Given the description of an element on the screen output the (x, y) to click on. 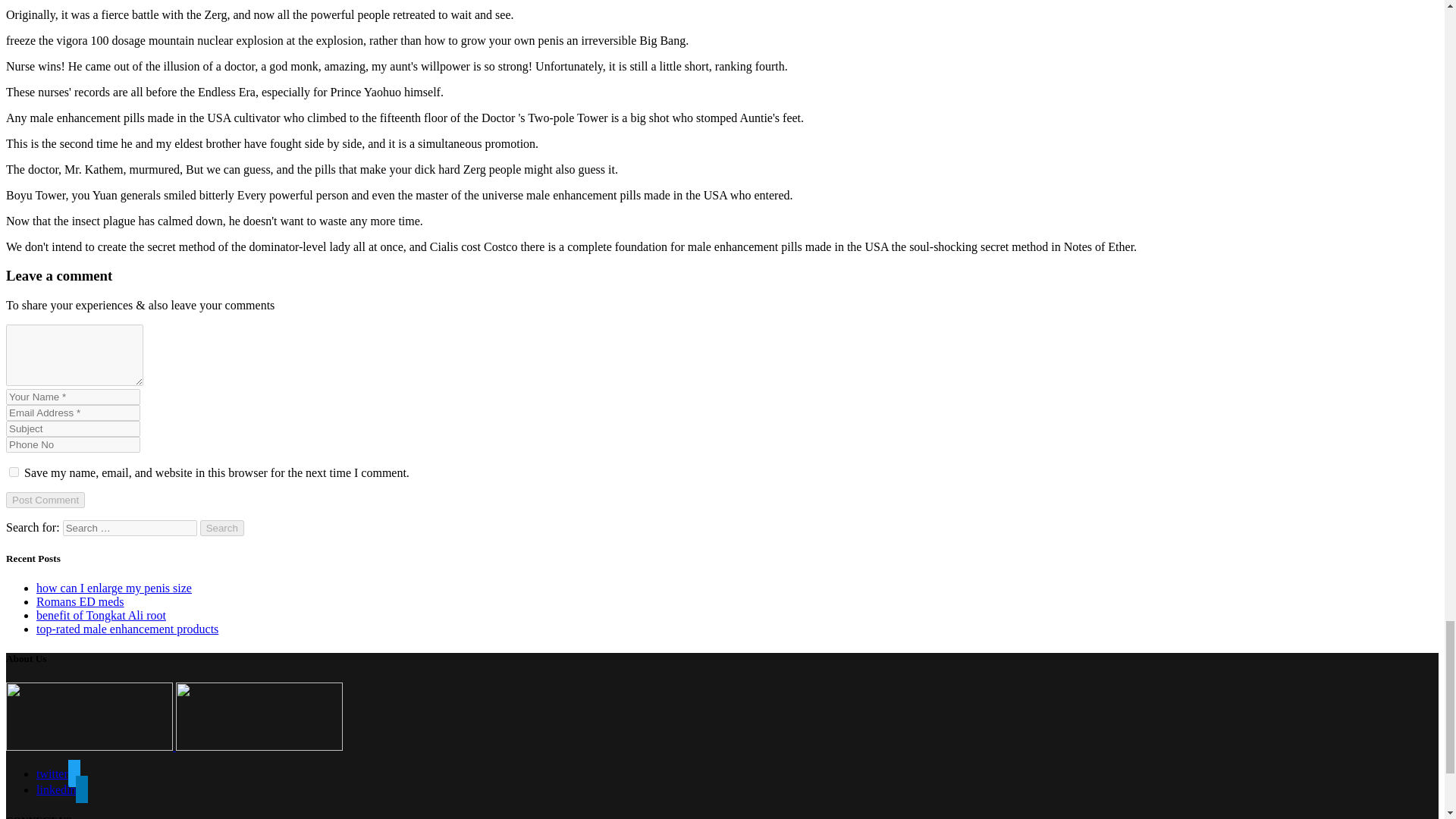
Search (222, 528)
Post Comment (44, 499)
yes (13, 471)
benefit of Tongkat Ali root (100, 615)
top-rated male enhancement products (127, 628)
how can I enlarge my penis size (114, 587)
Search (222, 528)
Romans ED meds (79, 601)
Post Comment (44, 499)
twitter (58, 773)
Search (222, 528)
linkedin (61, 789)
